Given the description of an element on the screen output the (x, y) to click on. 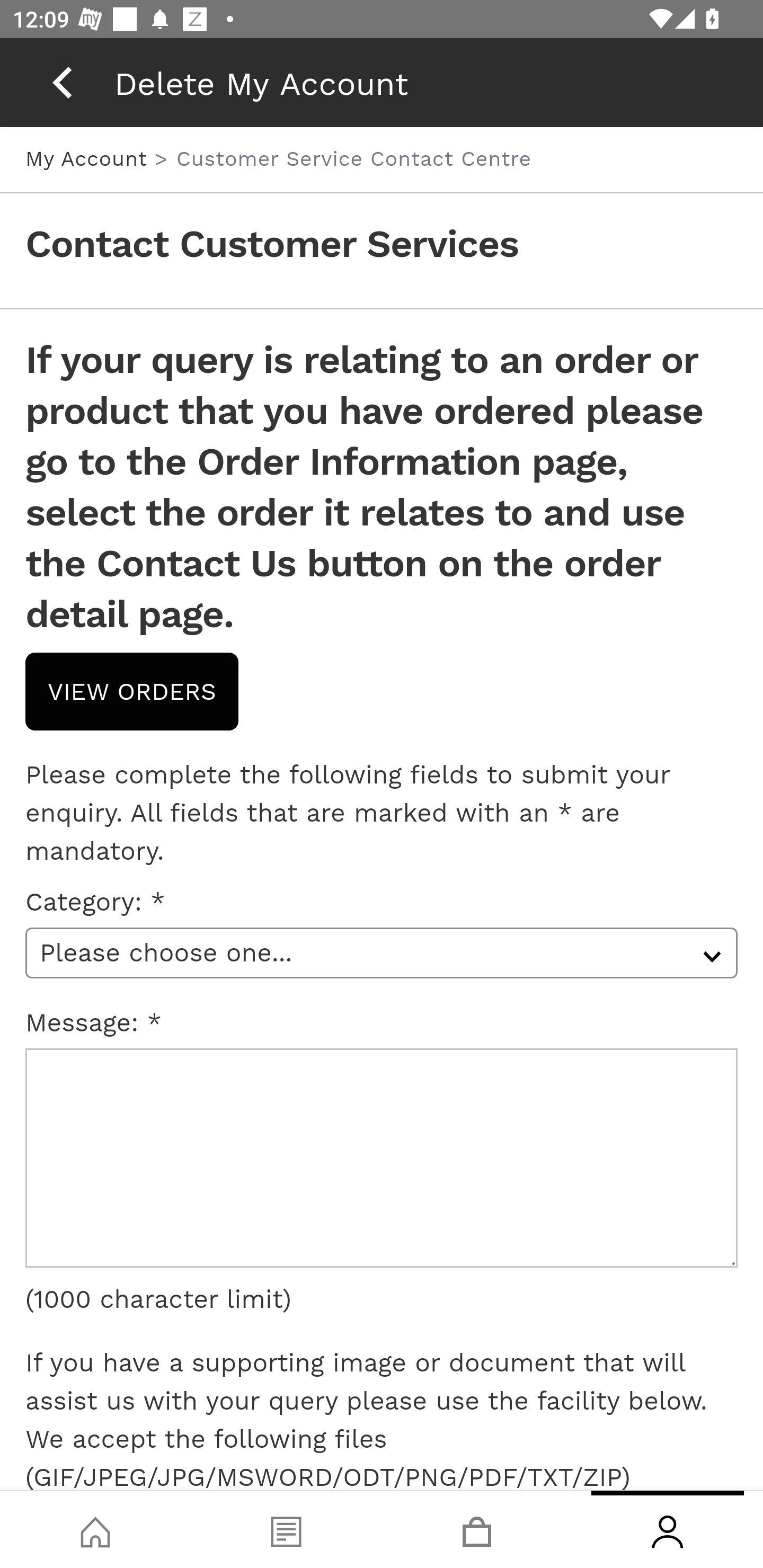
back (61, 82)
My Account  (90, 157)
VIEW ORDERS (132, 691)
Please choose one... (381, 952)
Shop, tab, 1 of 4 (95, 1529)
Blog, tab, 2 of 4 (285, 1529)
Basket, tab, 3 of 4 (476, 1529)
Account, tab, 4 of 4 (667, 1529)
